Given the description of an element on the screen output the (x, y) to click on. 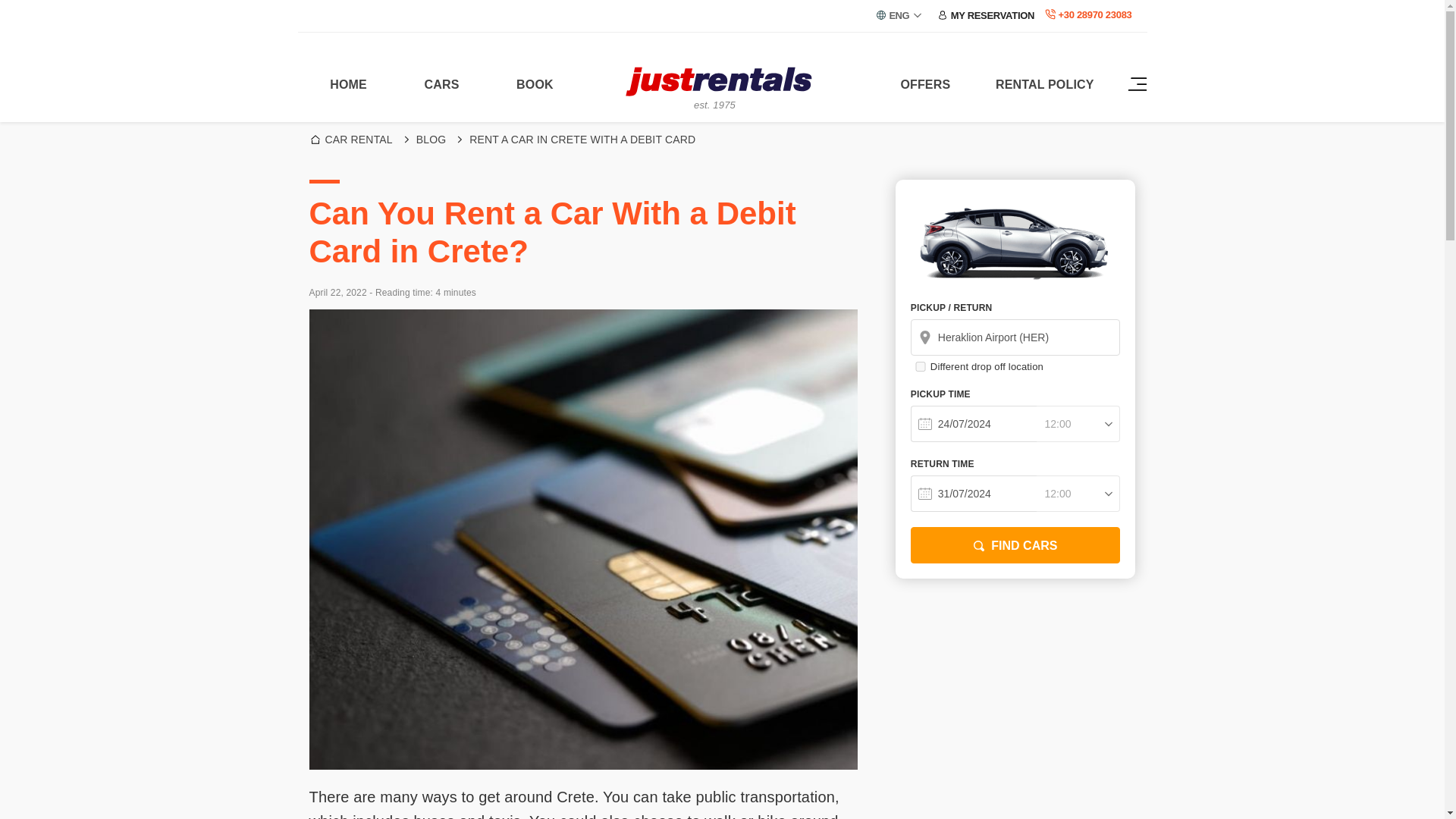
RENTAL POLICY (1044, 84)
FIND CARS (1016, 545)
0 (920, 366)
CARS (441, 84)
Blog (421, 139)
MY RESERVATION (985, 15)
Rent a Car in Crete With a Debit Card  (572, 139)
Car Rental (347, 139)
Justrentals cars crete (721, 81)
BOOK (535, 84)
BLOG (421, 139)
CAR RENTAL (347, 139)
OFFERS (924, 84)
RENT A CAR IN CRETE WITH A DEBIT CARD (572, 139)
HOME (347, 84)
